Given the description of an element on the screen output the (x, y) to click on. 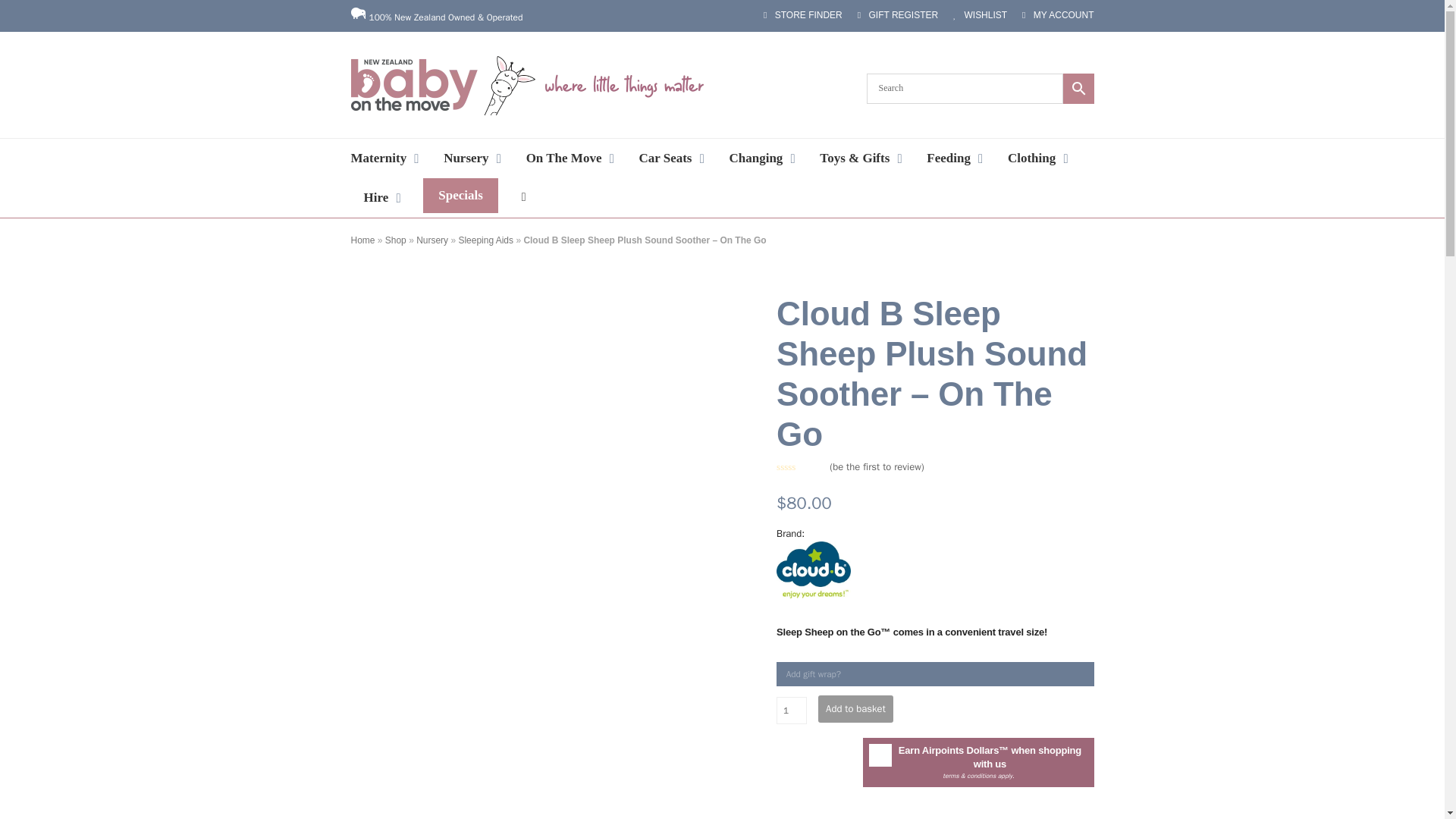
MY ACCOUNT (1057, 14)
1 (791, 709)
STORE FINDER (802, 14)
Nursery (471, 157)
WISHLIST (980, 14)
Maternity (385, 157)
GIFT REGISTER (897, 14)
